Given the description of an element on the screen output the (x, y) to click on. 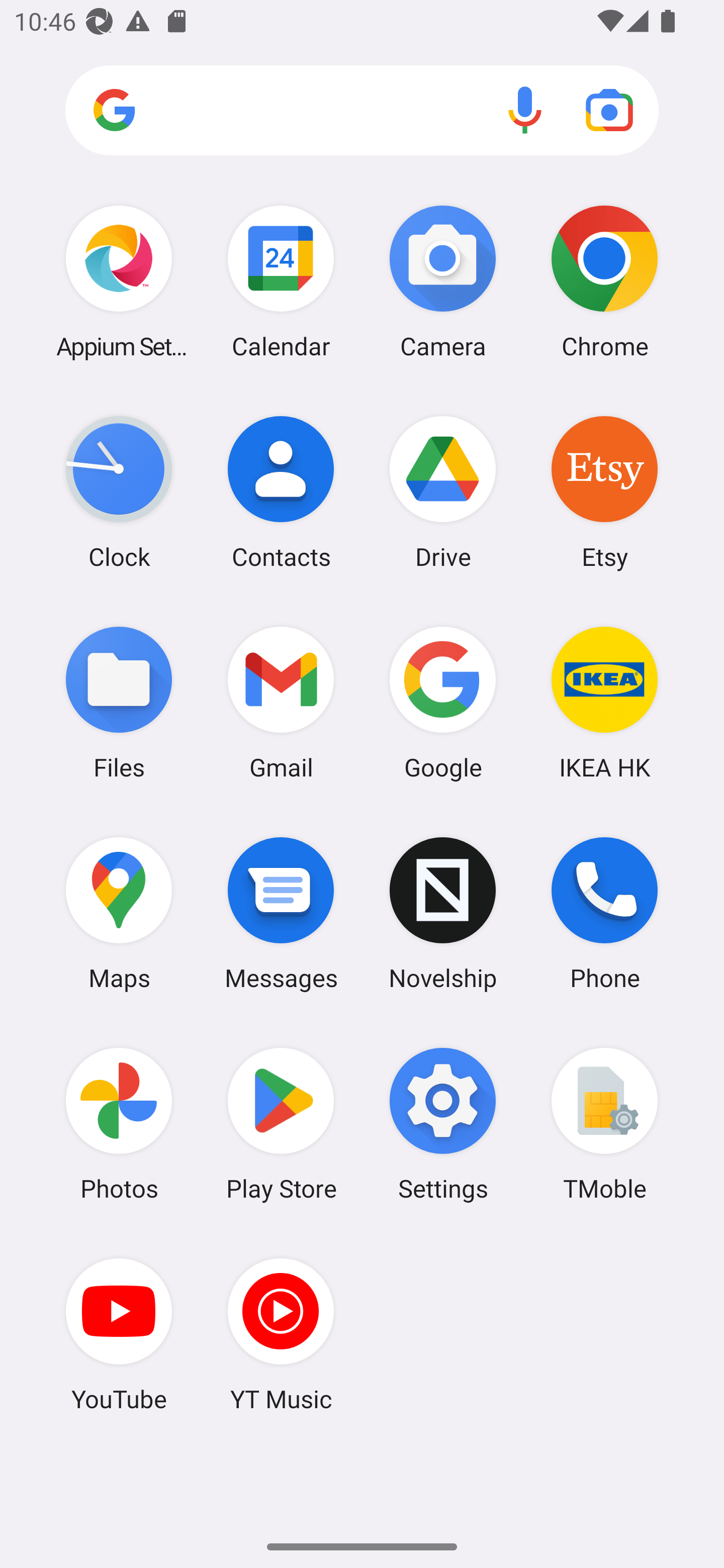
Search apps, web and more (361, 110)
Voice search (524, 109)
Google Lens (608, 109)
Appium Settings (118, 281)
Calendar (280, 281)
Camera (443, 281)
Chrome (604, 281)
Clock (118, 492)
Contacts (280, 492)
Drive (443, 492)
Etsy (604, 492)
Files (118, 702)
Gmail (280, 702)
Google (443, 702)
IKEA HK (604, 702)
Maps (118, 913)
Messages (280, 913)
Novelship (443, 913)
Phone (604, 913)
Photos (118, 1124)
Play Store (280, 1124)
Settings (443, 1124)
TMoble (604, 1124)
YouTube (118, 1334)
YT Music (280, 1334)
